Given the description of an element on the screen output the (x, y) to click on. 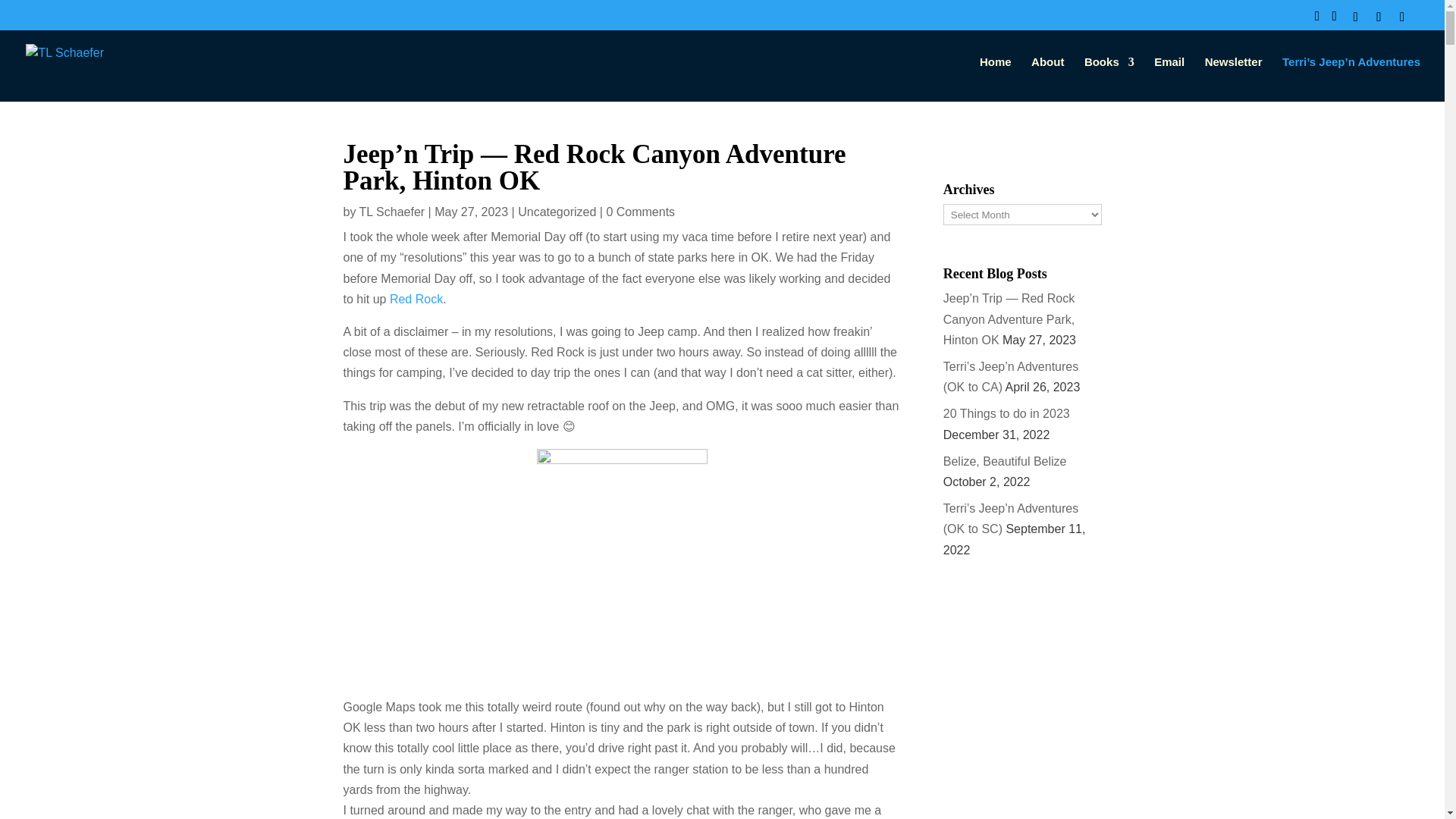
Red Rock (416, 298)
Books (1109, 78)
TL Schaefer (392, 211)
Posts by TL Schaefer (392, 211)
Uncategorized (556, 211)
Newsletter (1233, 78)
